Given the description of an element on the screen output the (x, y) to click on. 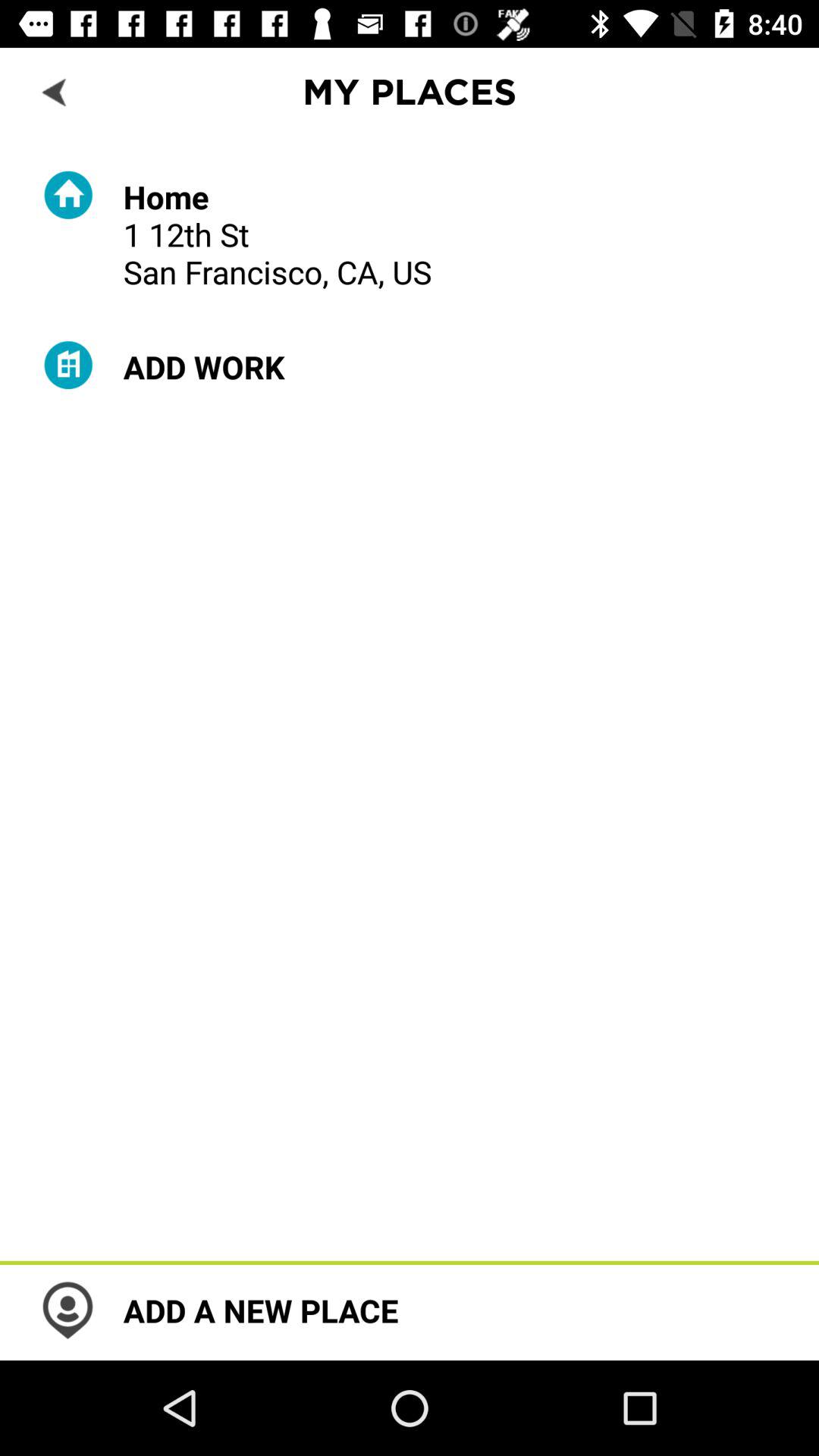
go back (55, 91)
